Given the description of an element on the screen output the (x, y) to click on. 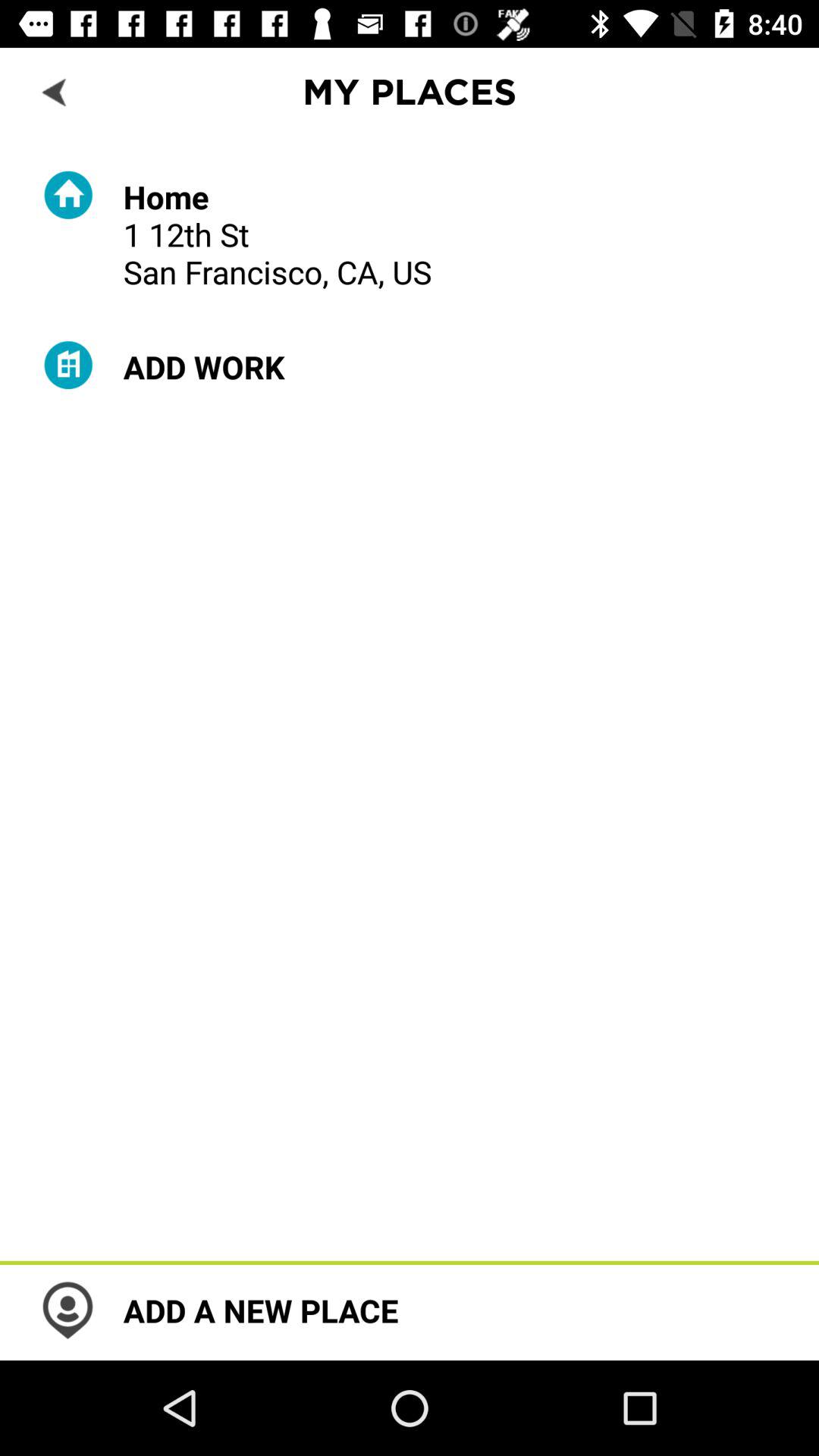
go back (55, 91)
